Given the description of an element on the screen output the (x, y) to click on. 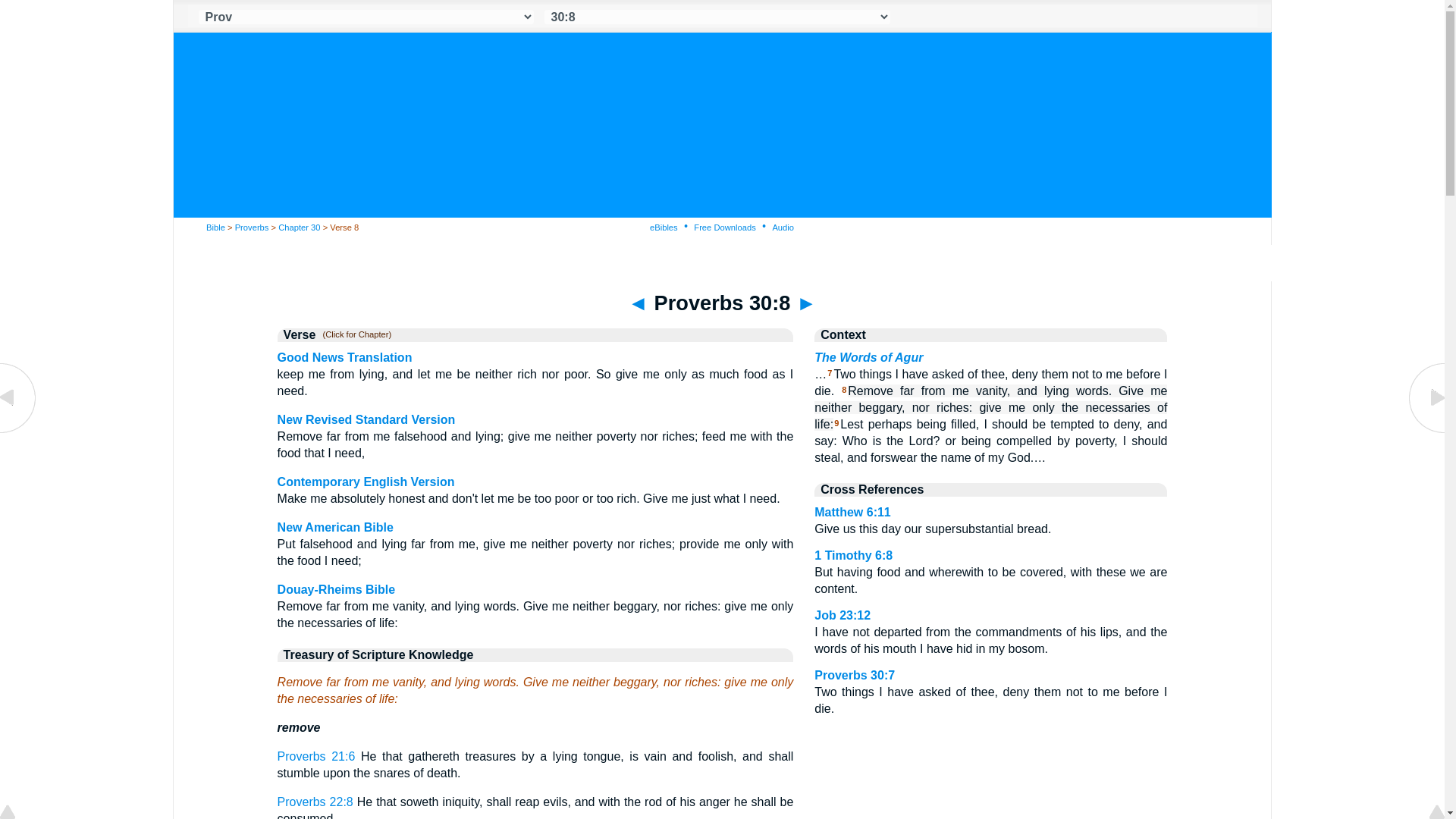
1 Timothy 6:8 (852, 554)
New Revised Standard Version (366, 419)
Proverbs 22:8 (315, 801)
Proverbs 30:7 (18, 431)
Job 23:12 (841, 615)
The Words of Agur (868, 357)
Click any translation name for full chapter (353, 335)
Contemporary English Version (366, 481)
Good News Translation (345, 357)
Proverbs 21:6 (316, 756)
